Given the description of an element on the screen output the (x, y) to click on. 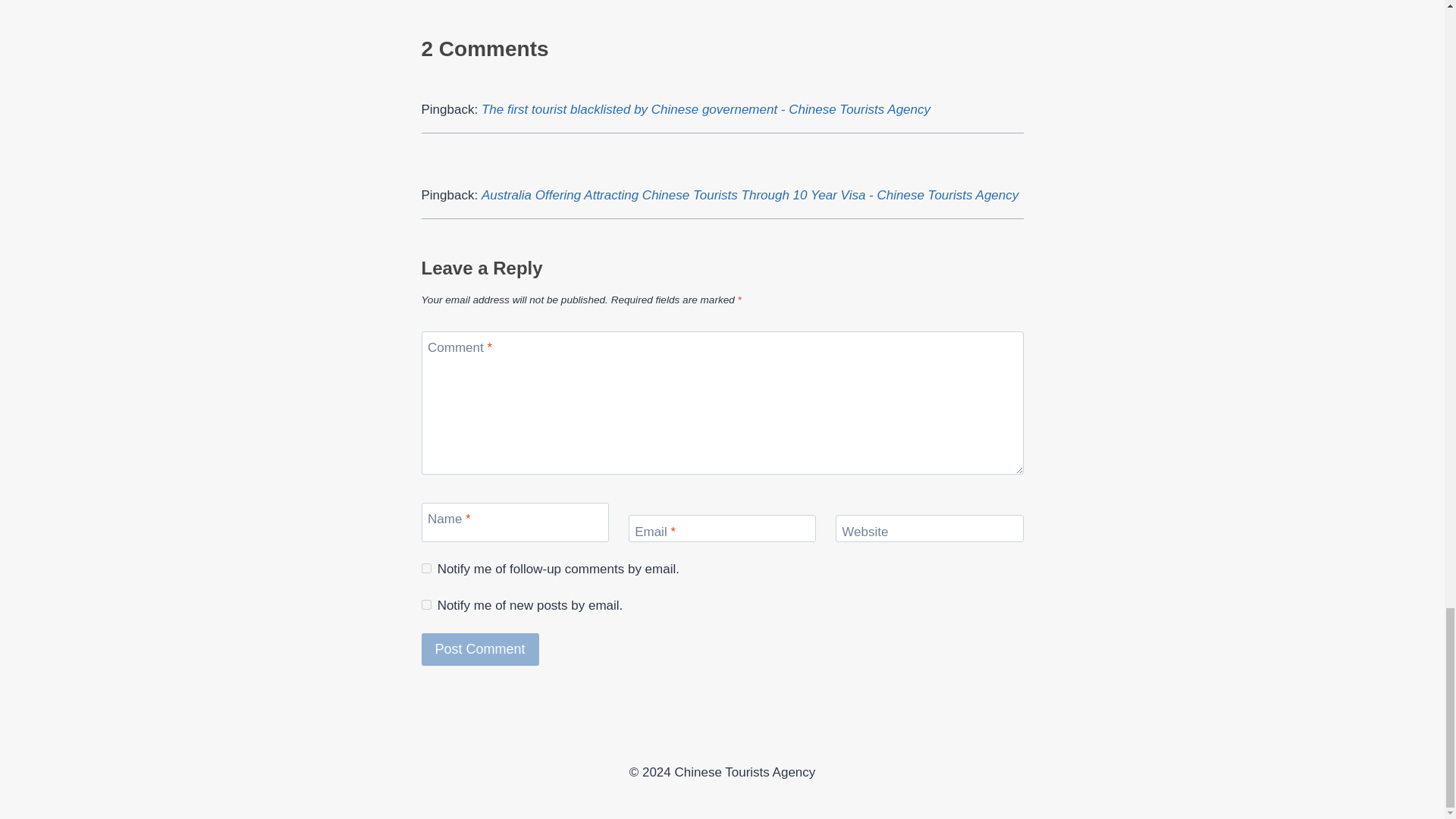
Post Comment (480, 649)
subscribe (426, 604)
subscribe (426, 568)
